Given the description of an element on the screen output the (x, y) to click on. 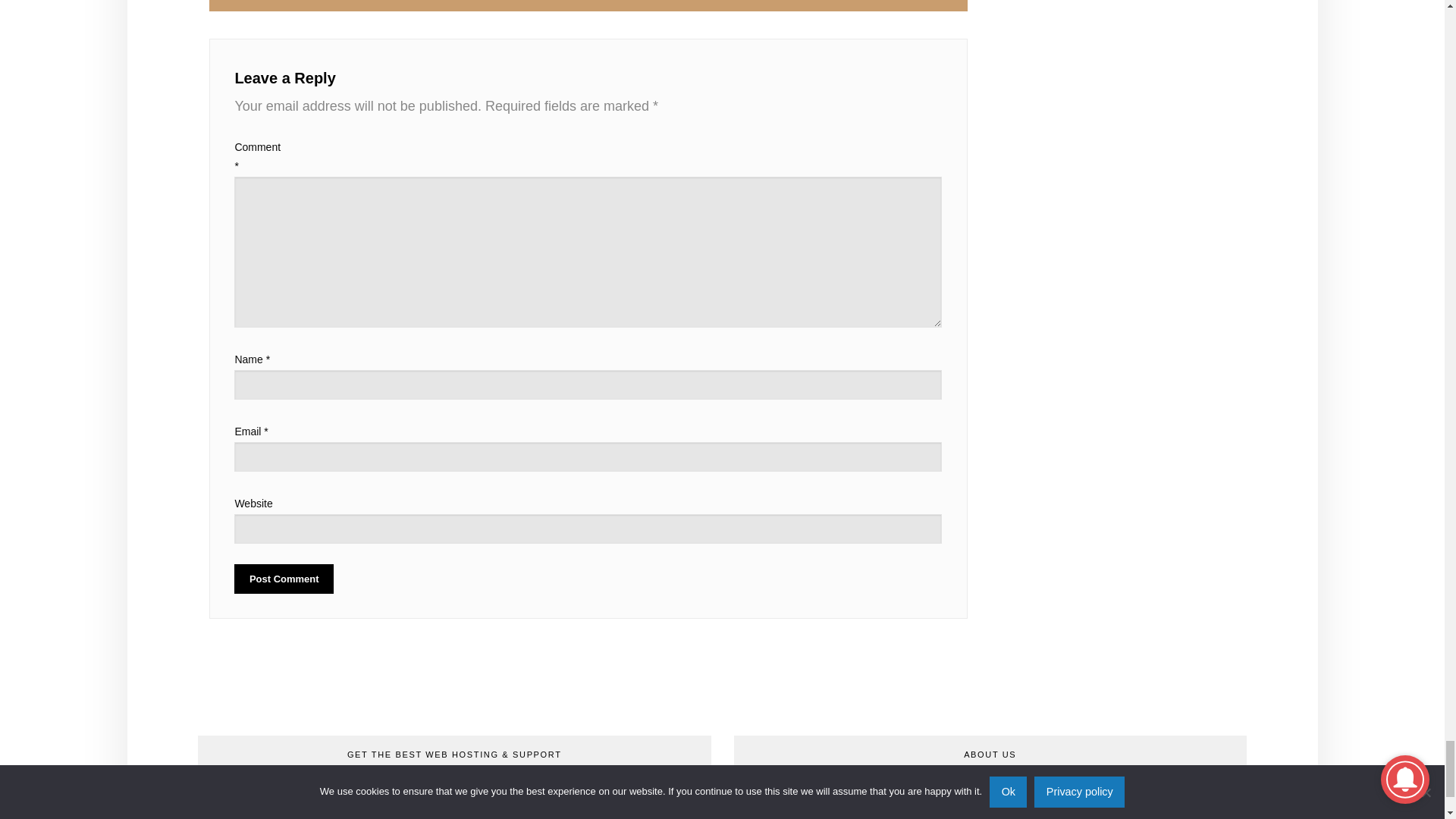
Post Comment (283, 578)
